Given the description of an element on the screen output the (x, y) to click on. 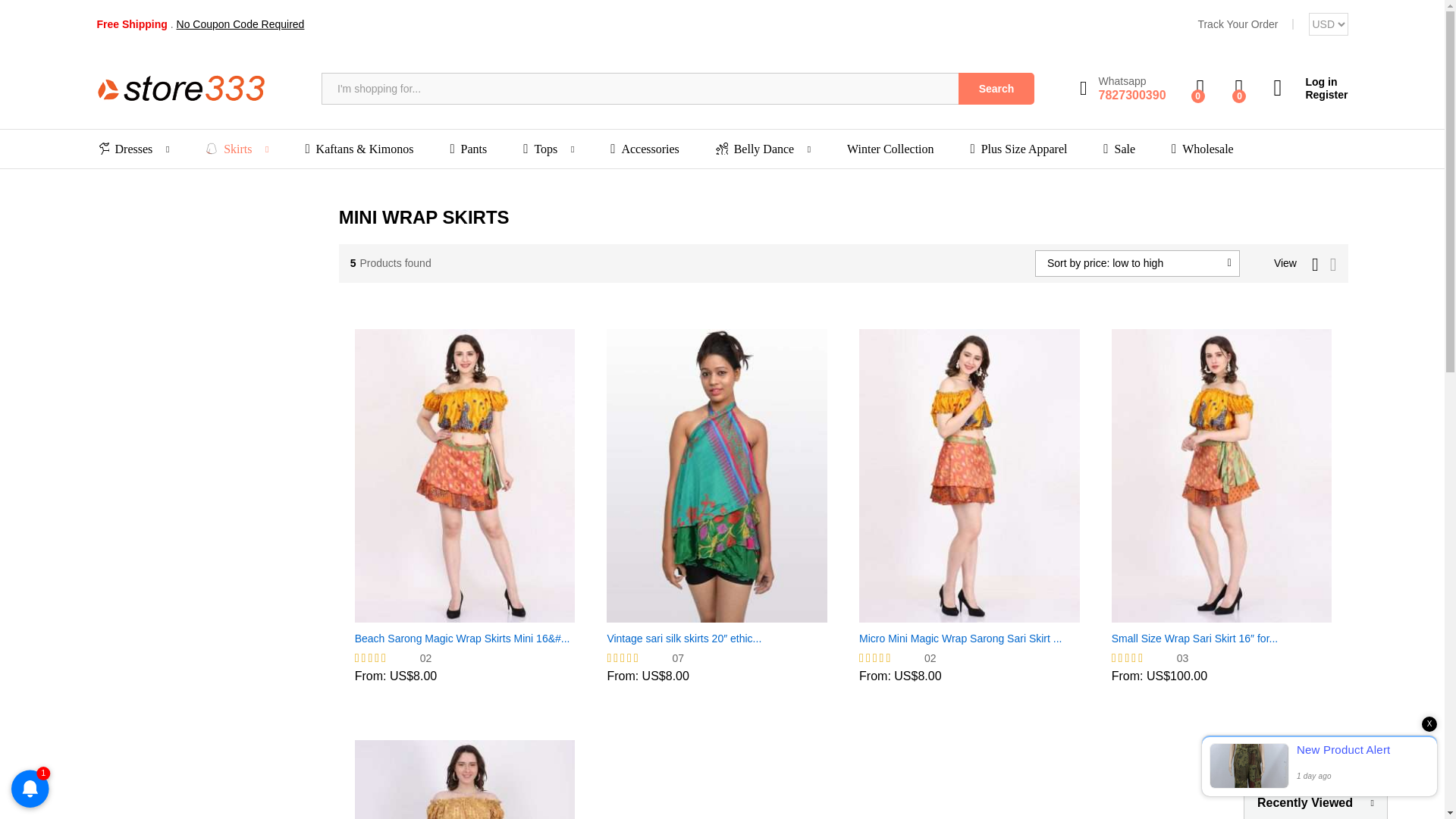
Tops (539, 148)
Track Your Order (1237, 24)
Search (995, 88)
Skirts (228, 148)
Pants (467, 148)
Log in (1310, 82)
No Coupon Code Required (1123, 88)
Dresses (240, 24)
Register (124, 148)
